Given the description of an element on the screen output the (x, y) to click on. 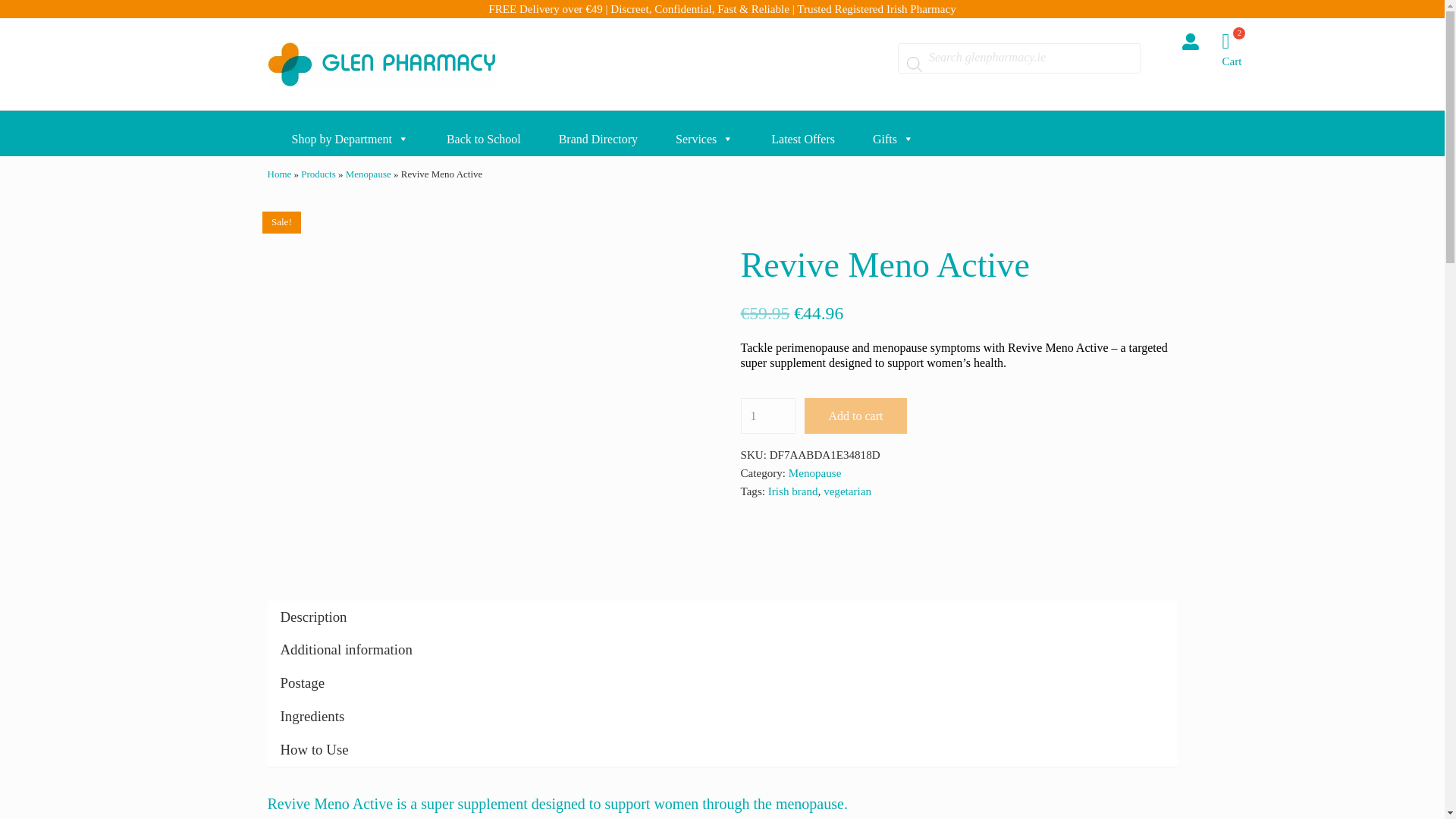
Shop by Department (340, 132)
My account (1189, 41)
1 (766, 415)
Cart (1241, 48)
